Given the description of an element on the screen output the (x, y) to click on. 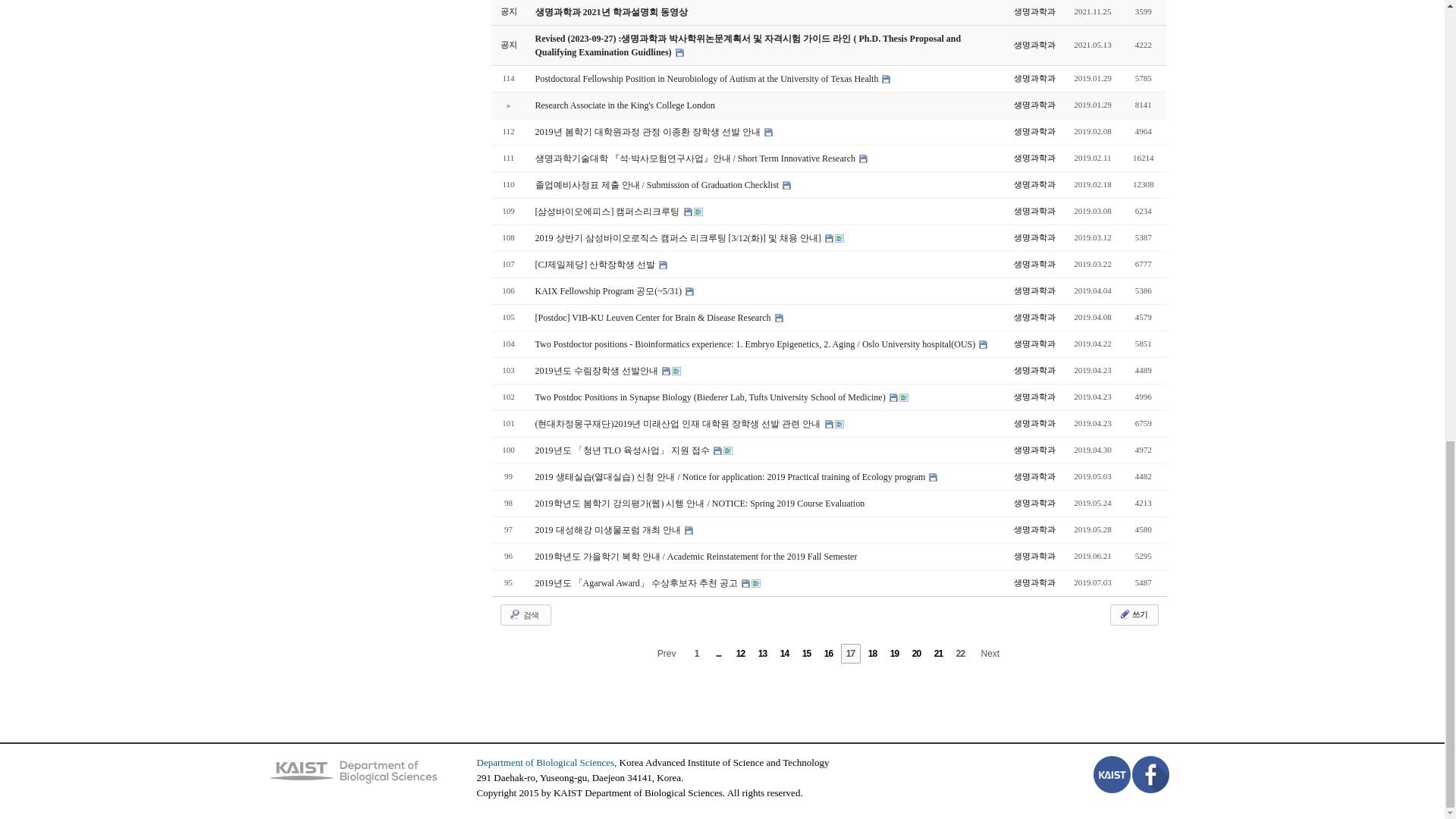
00:44 (1092, 78)
07:59 (1092, 211)
01:35 (1092, 104)
file (885, 79)
08:23 (1092, 157)
file (786, 184)
Image (697, 212)
file (863, 158)
file (688, 212)
file (662, 265)
file (768, 131)
00:37 (1092, 237)
file (828, 238)
06:32 (1092, 130)
file (679, 52)
